Given the description of an element on the screen output the (x, y) to click on. 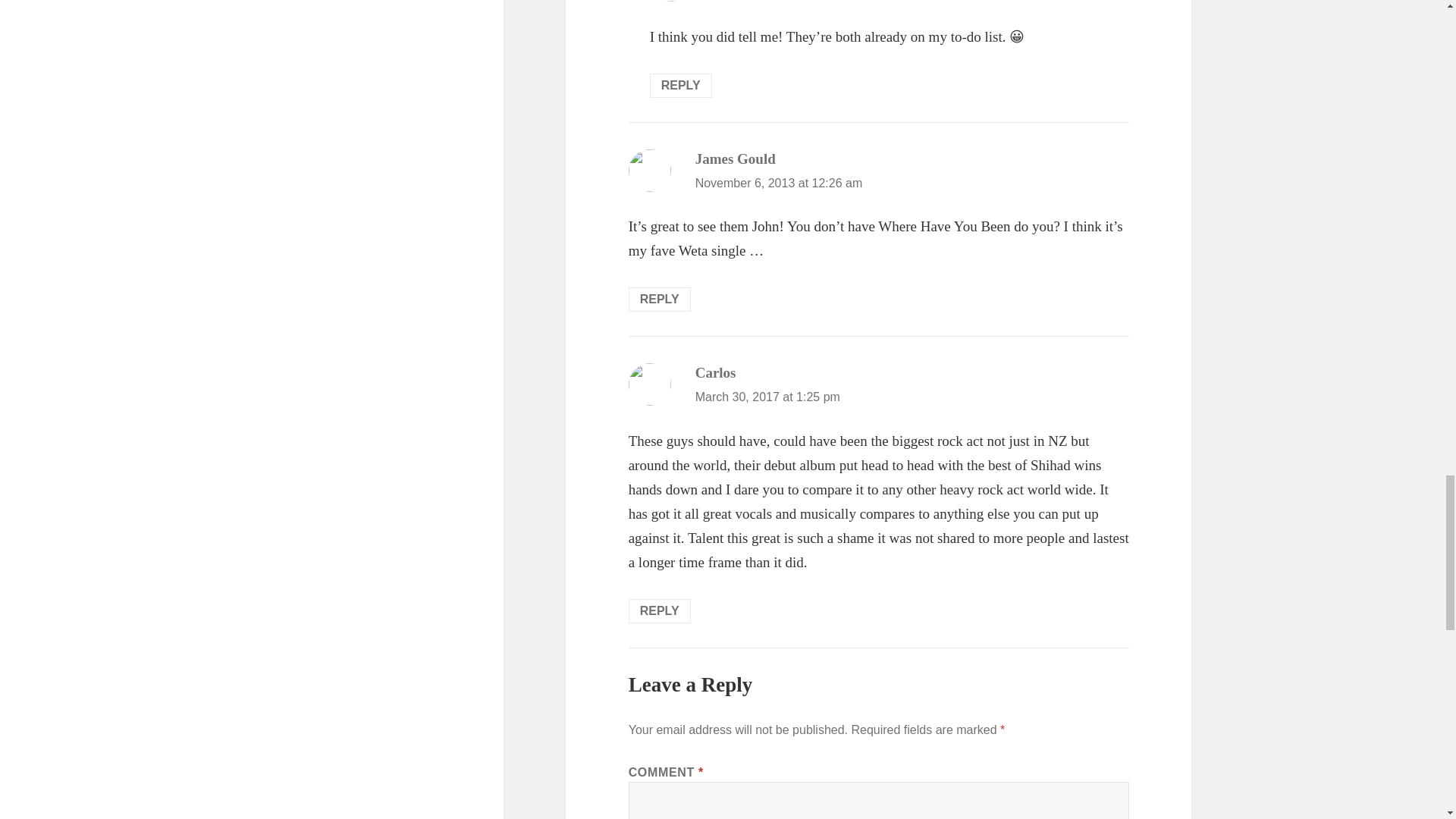
November 6, 2013 at 12:26 am (779, 182)
REPLY (680, 85)
